Given the description of an element on the screen output the (x, y) to click on. 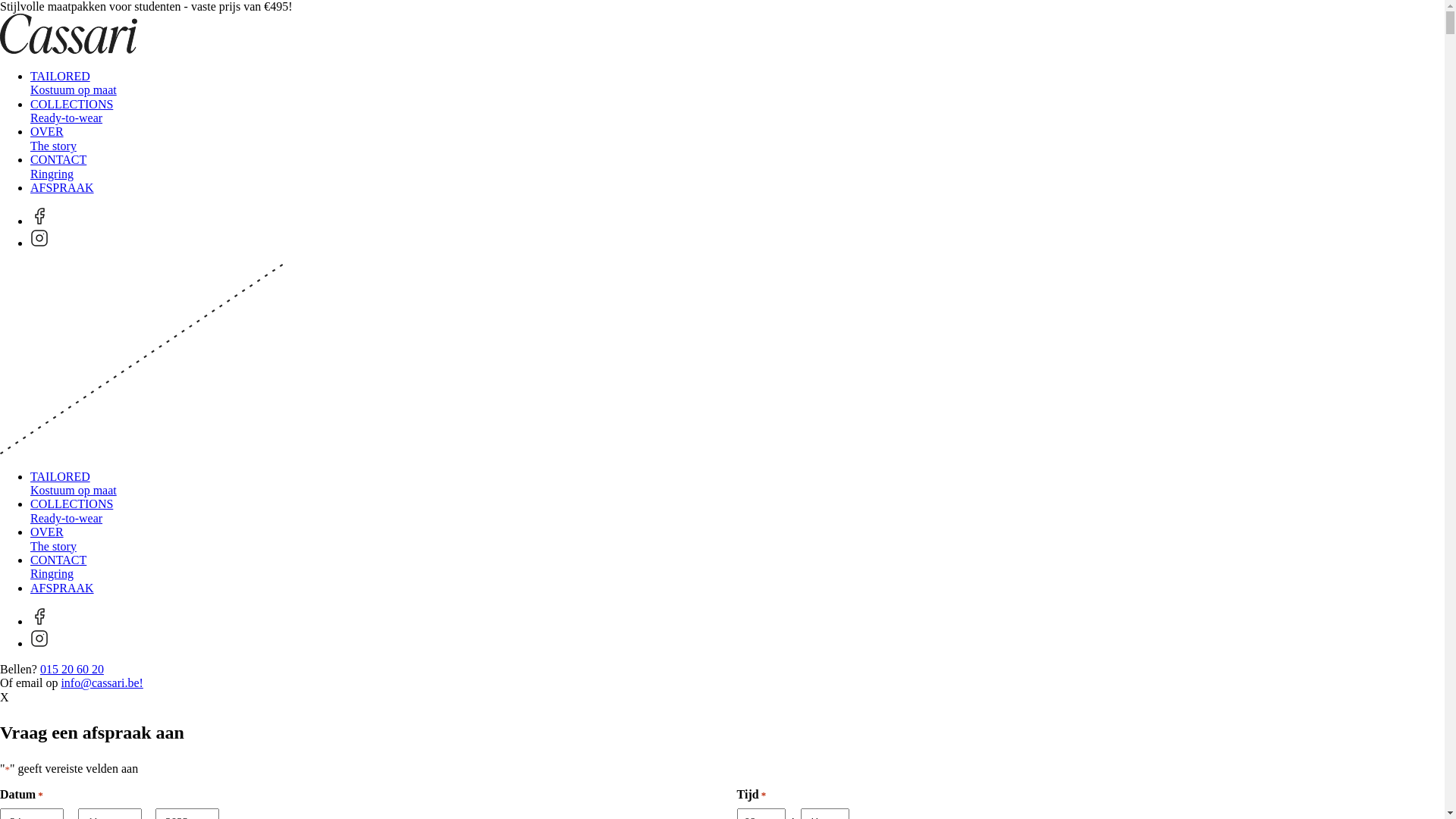
CONTACT
Ringring Element type: text (58, 166)
COLLECTIONS
Ready-to-wear Element type: text (71, 510)
TAILORED
Kostuum op maat Element type: text (73, 82)
CONTACT
Ringring Element type: text (58, 566)
info@cassari.be! Element type: text (101, 682)
OVER
The story Element type: text (53, 538)
OVER
The story Element type: text (53, 138)
COLLECTIONS
Ready-to-wear Element type: text (71, 110)
015 20 60 20 Element type: text (71, 668)
TAILORED
Kostuum op maat Element type: text (73, 483)
AFSPRAAK Element type: text (62, 587)
AFSPRAAK Element type: text (62, 187)
